Given the description of an element on the screen output the (x, y) to click on. 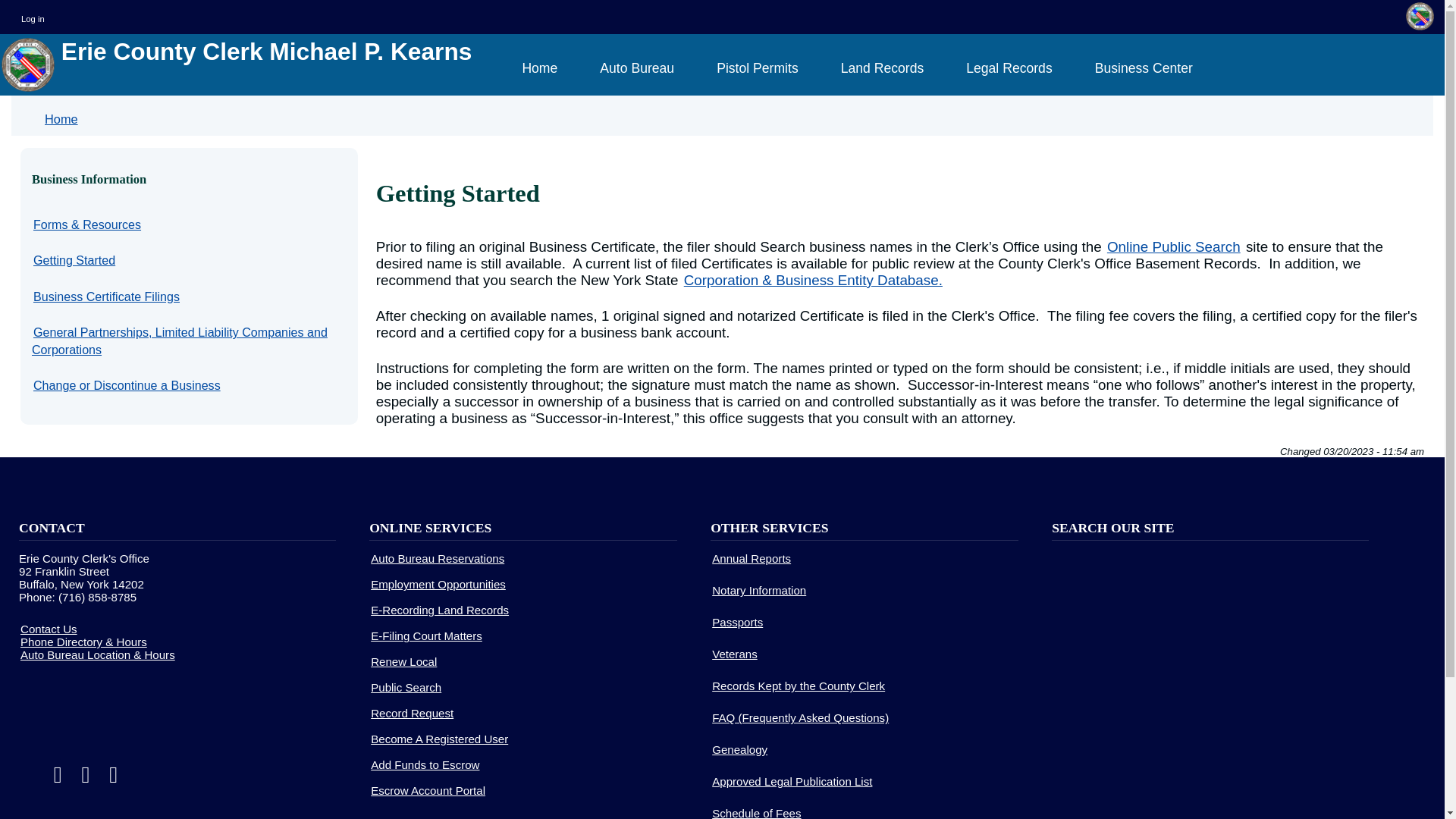
Employment Opportunities (437, 584)
Auto Bureau (636, 68)
Log in (32, 18)
Home (539, 68)
Business Center (1143, 68)
Escrow Account Portal (427, 790)
Erie County Clerk Michael P. Kearns (236, 64)
Notary Information (759, 590)
Home (236, 64)
E-Filing Court Matters (426, 635)
Business Certificate Filings (106, 296)
Contact Us (48, 628)
Online Public Search (1173, 246)
Renew Local (403, 661)
